Given the description of an element on the screen output the (x, y) to click on. 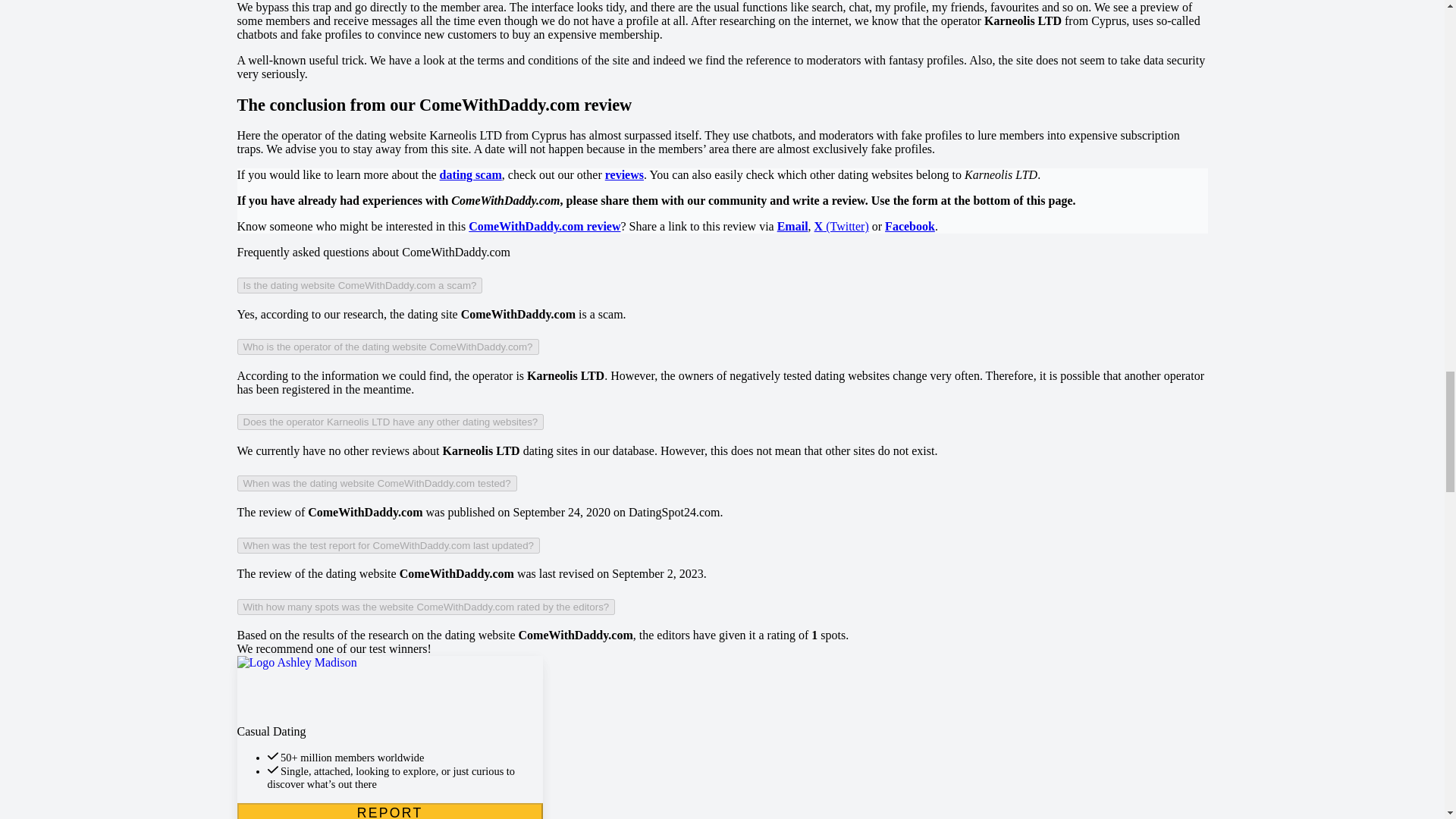
Read test report (388, 812)
Facebook (909, 226)
Open website (388, 690)
ComeWithDaddy.com review (544, 226)
Email (792, 226)
